Given the description of an element on the screen output the (x, y) to click on. 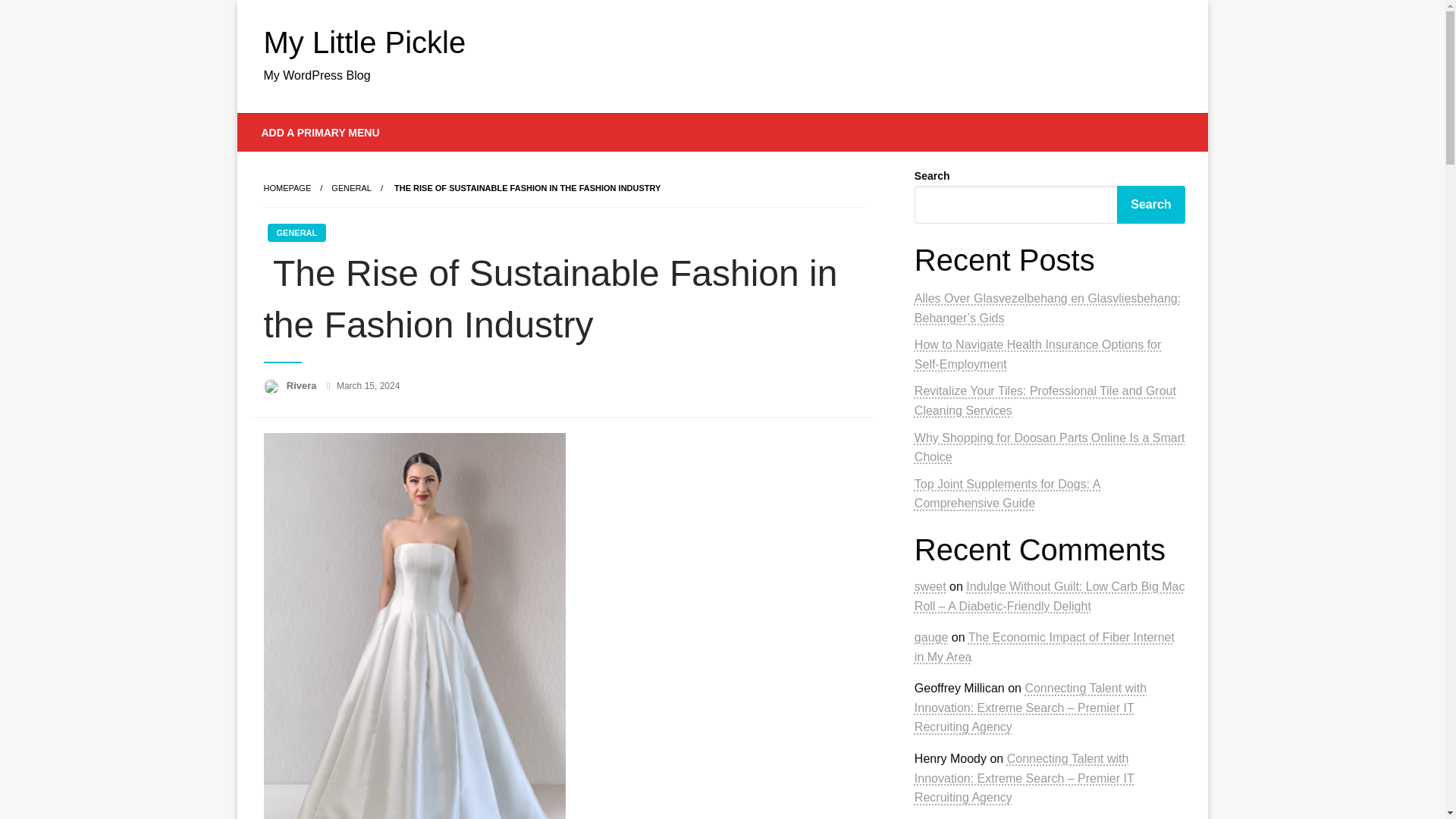
Homepage (287, 187)
GENERAL (351, 187)
HOMEPAGE (287, 187)
sweet (930, 585)
Search (1150, 204)
Rivera (302, 385)
Why Shopping for Doosan Parts Online Is a Smart Choice (1049, 447)
March 15, 2024 (367, 385)
